Given the description of an element on the screen output the (x, y) to click on. 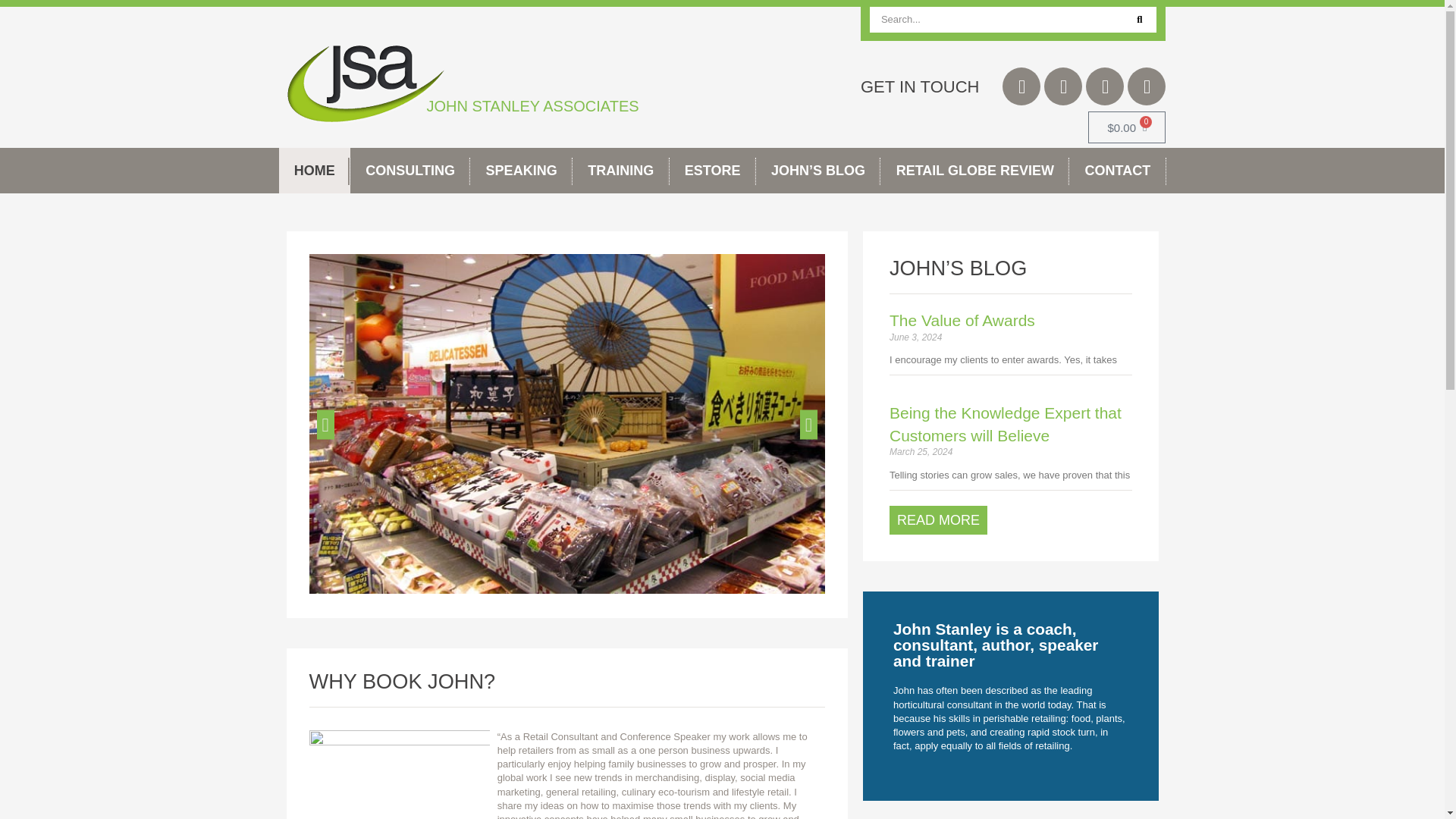
CONTACT (1117, 170)
TRAINING (620, 170)
Linkedin-in (1105, 86)
CONSULTING (410, 170)
RETAIL GLOBE REVIEW (974, 170)
Twitter (1022, 86)
ESTORE (712, 170)
Facebook-f (1062, 86)
Youtube (1146, 86)
SPEAKING (521, 170)
